Given the description of an element on the screen output the (x, y) to click on. 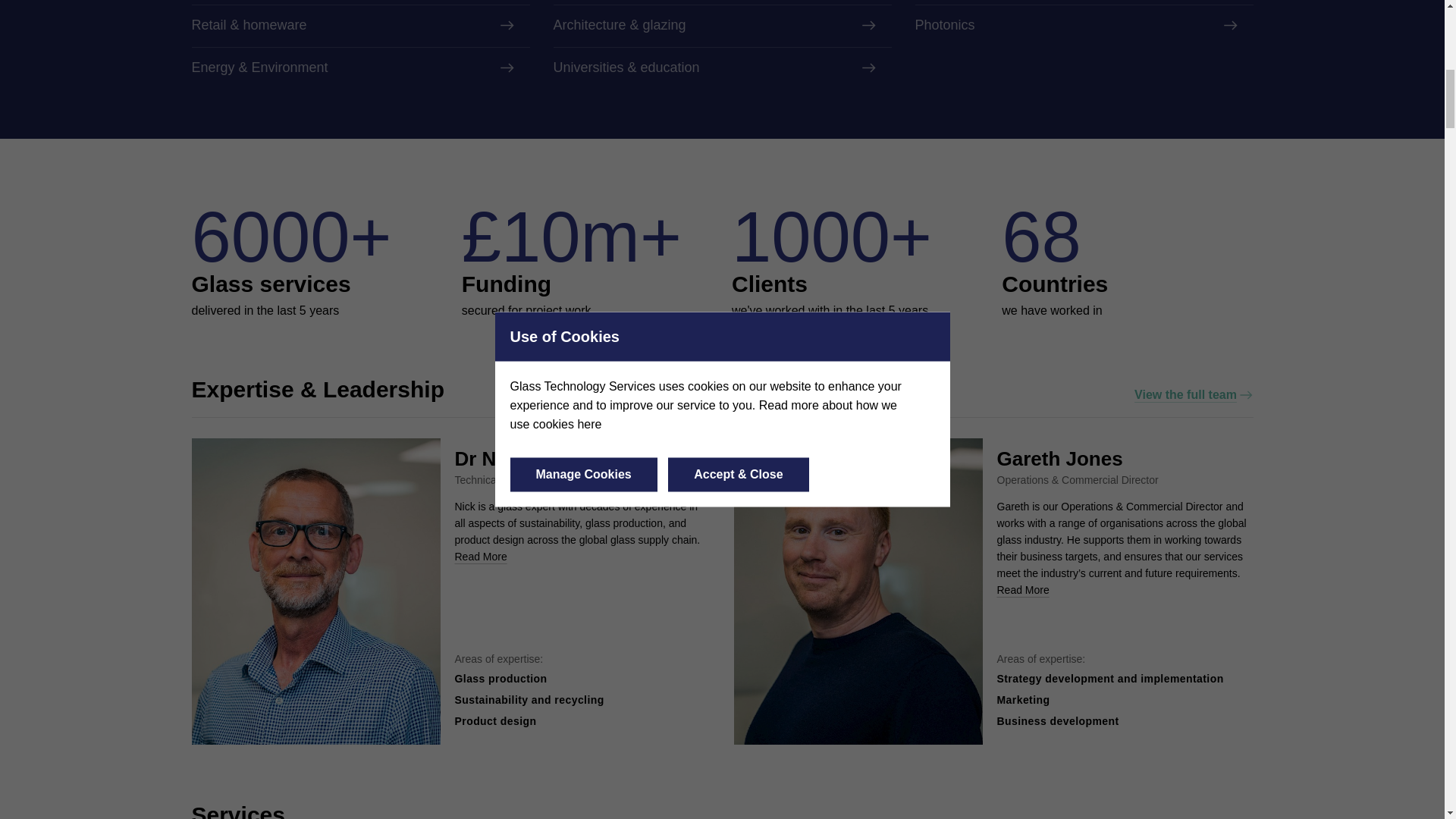
Gareth Jones (1058, 458)
Glass manufacturing (359, 2)
All services (1211, 818)
Read More (1021, 589)
View the full team (1193, 394)
Photonics (1083, 25)
Read More (480, 556)
Dr Nick Kirk (510, 458)
